Given the description of an element on the screen output the (x, y) to click on. 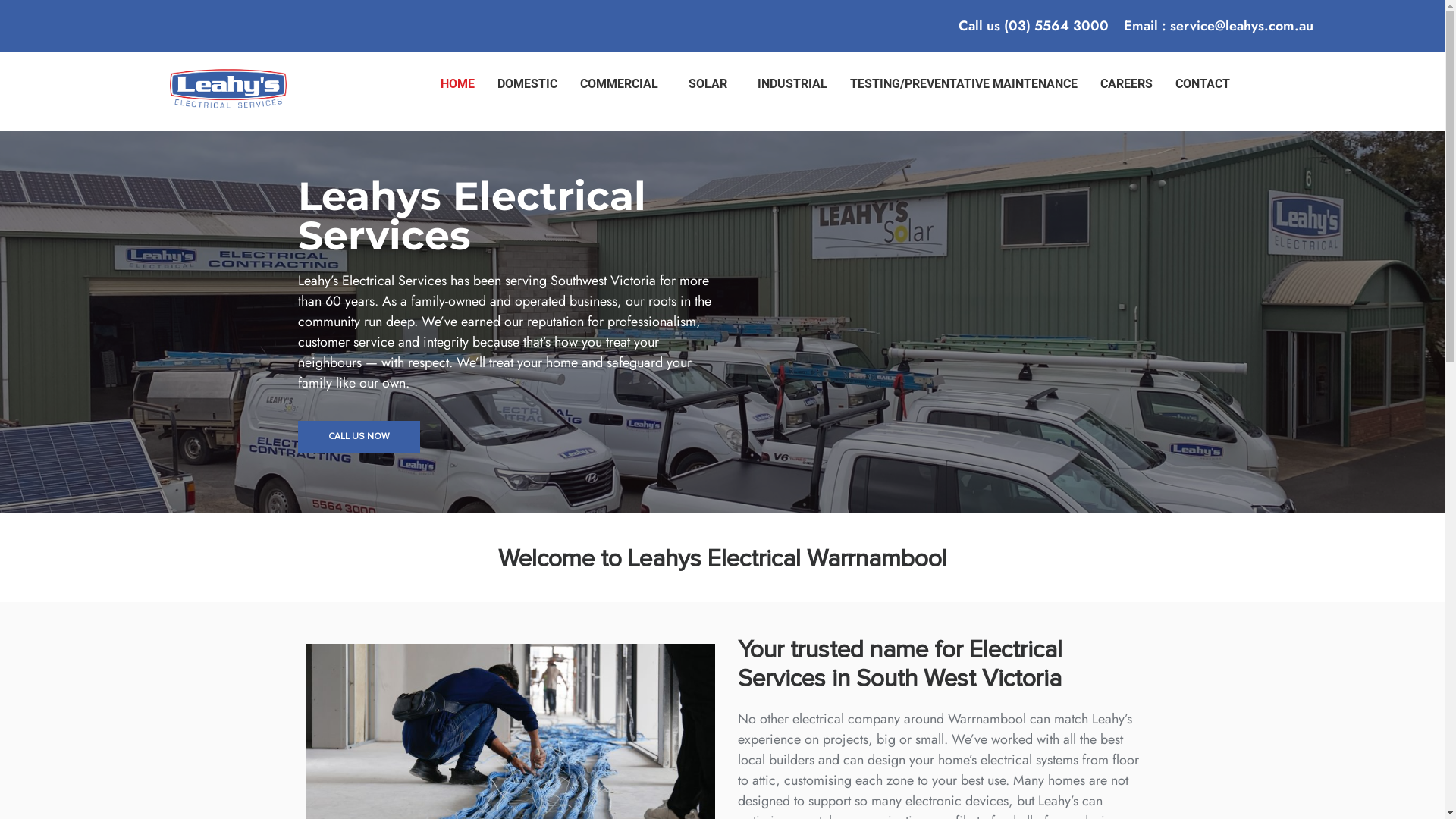
Call us (03) 5564 3000 Element type: text (1033, 25)
CAREERS Element type: text (1126, 83)
HOME Element type: text (457, 83)
CALL US NOW Element type: text (358, 436)
DOMESTIC Element type: text (527, 83)
COMMERCIAL Element type: text (622, 83)
INDUSTRIAL Element type: text (792, 83)
SOLAR Element type: text (711, 83)
TESTING/PREVENTATIVE MAINTENANCE Element type: text (963, 83)
CONTACT Element type: text (1202, 83)
Email : service@leahys.com.au Element type: text (1218, 25)
